Given the description of an element on the screen output the (x, y) to click on. 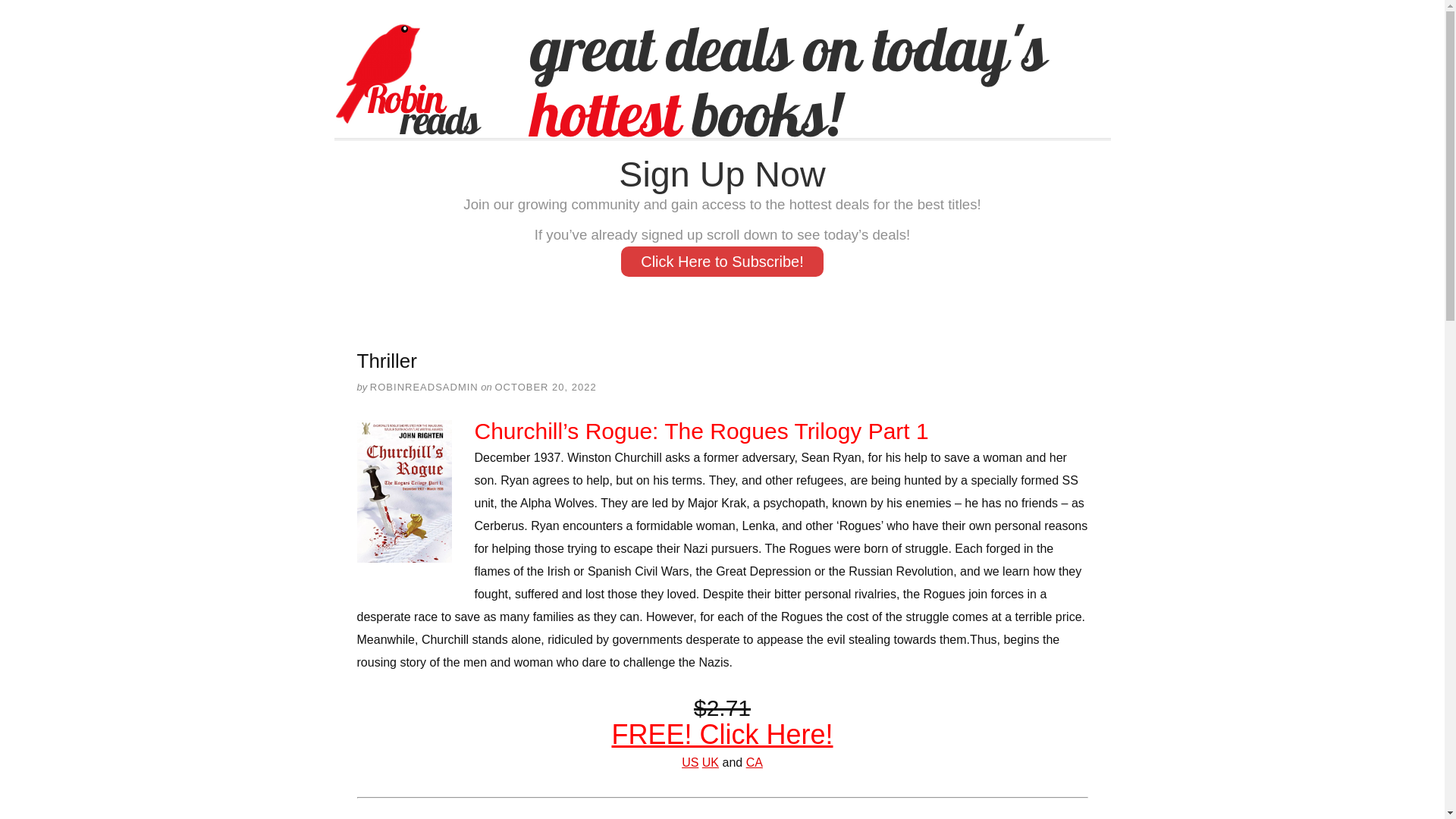
Click Here to Subscribe! (722, 261)
FREE! Click Here! (721, 734)
US (689, 762)
CA (753, 762)
2022-10-20 (545, 387)
UK (710, 762)
